Given the description of an element on the screen output the (x, y) to click on. 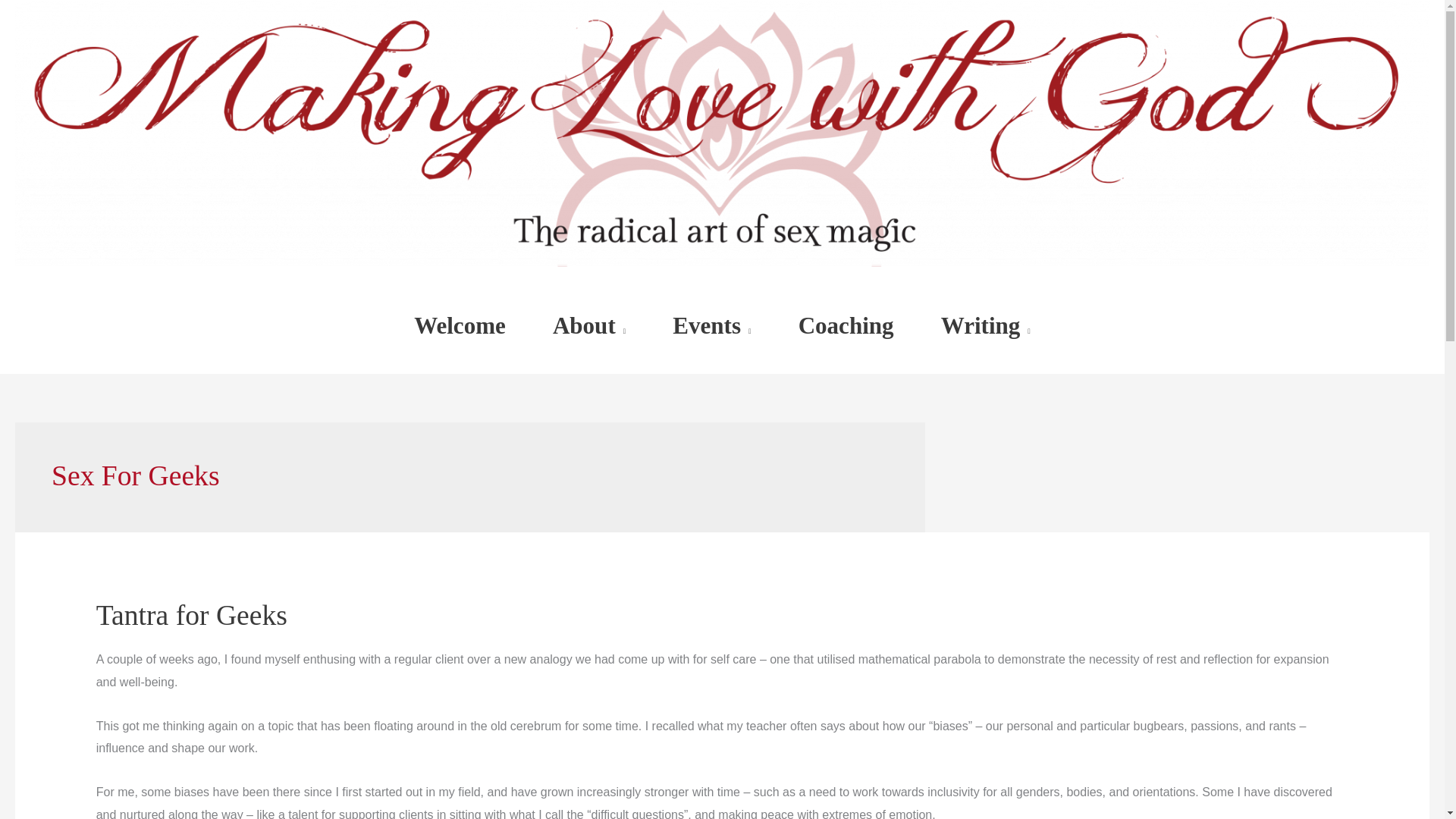
Tantra for Geeks (191, 614)
Events (711, 326)
Welcome (459, 326)
Writing (985, 326)
About (589, 326)
Coaching (845, 326)
